Given the description of an element on the screen output the (x, y) to click on. 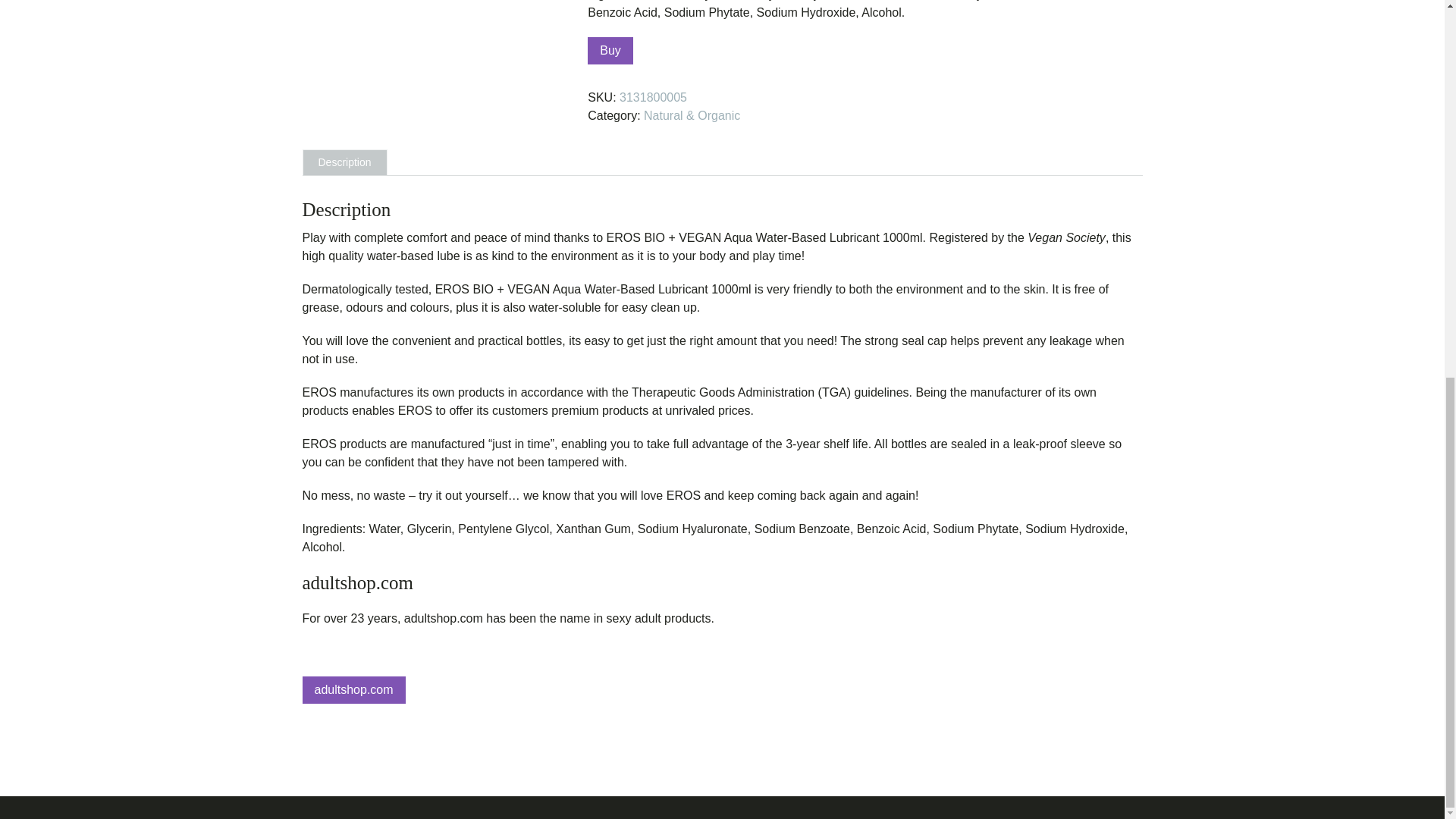
adultshop.com (352, 689)
Buy (610, 50)
adultshop.com (721, 582)
Description (344, 162)
